Given the description of an element on the screen output the (x, y) to click on. 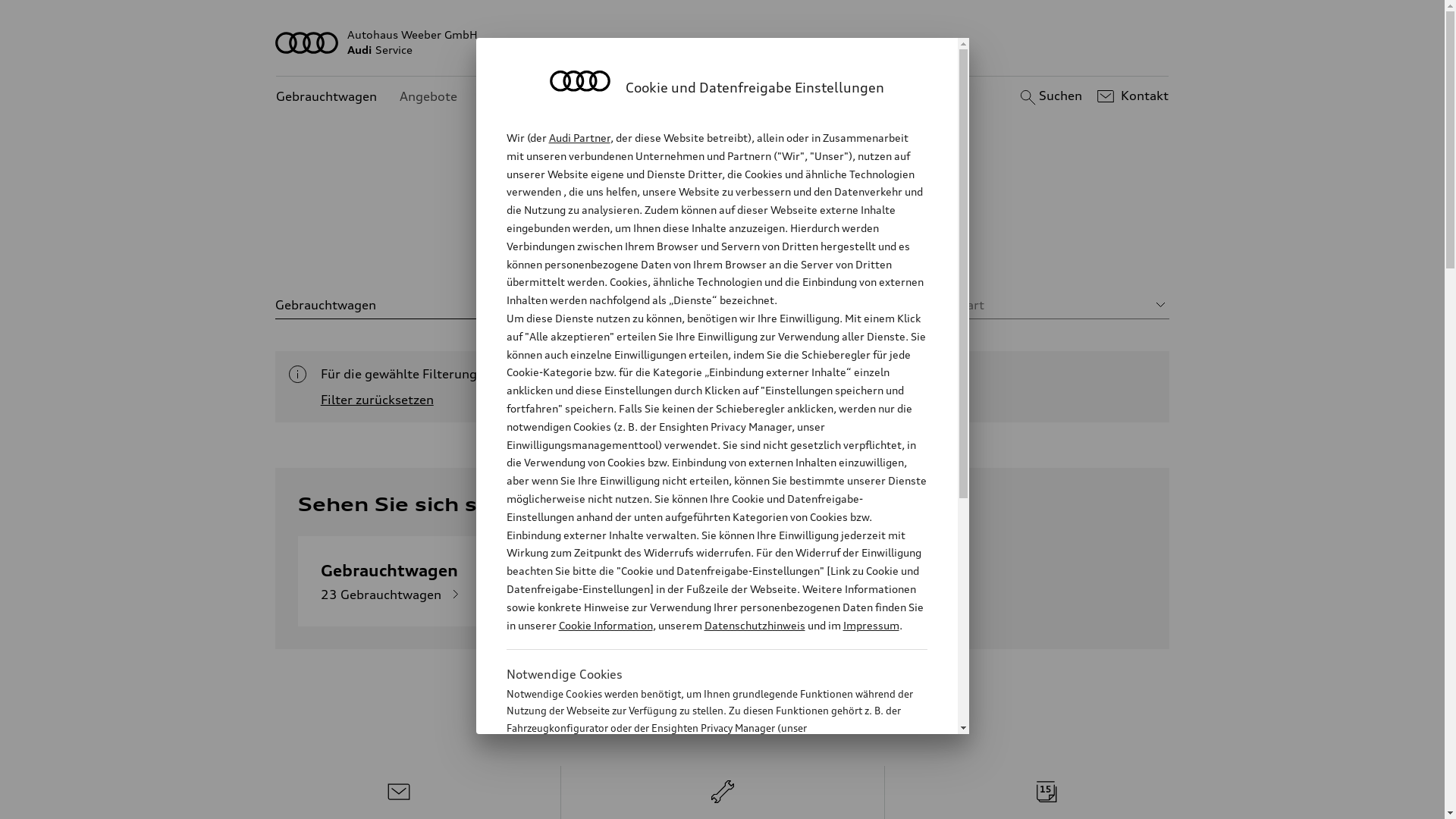
Datenschutzhinweis Element type: text (753, 624)
Angebote Element type: text (428, 96)
Alle Angebote Element type: text (604, 250)
Impressum Element type: text (871, 624)
Cookie Information Element type: text (605, 624)
Gebrauchtwagen Element type: text (326, 96)
Suchen Element type: text (1049, 96)
Autohaus Weeber GmbH
AudiService Element type: text (722, 42)
Fahrzeuge Element type: text (703, 250)
Cookie Information Element type: text (700, 802)
23 Gebrauchtwagen Element type: text (392, 594)
Kundenservice Element type: text (523, 96)
Service Element type: text (860, 250)
Audi Partner Element type: text (579, 137)
Kontakt Element type: text (1130, 96)
